Given the description of an element on the screen output the (x, y) to click on. 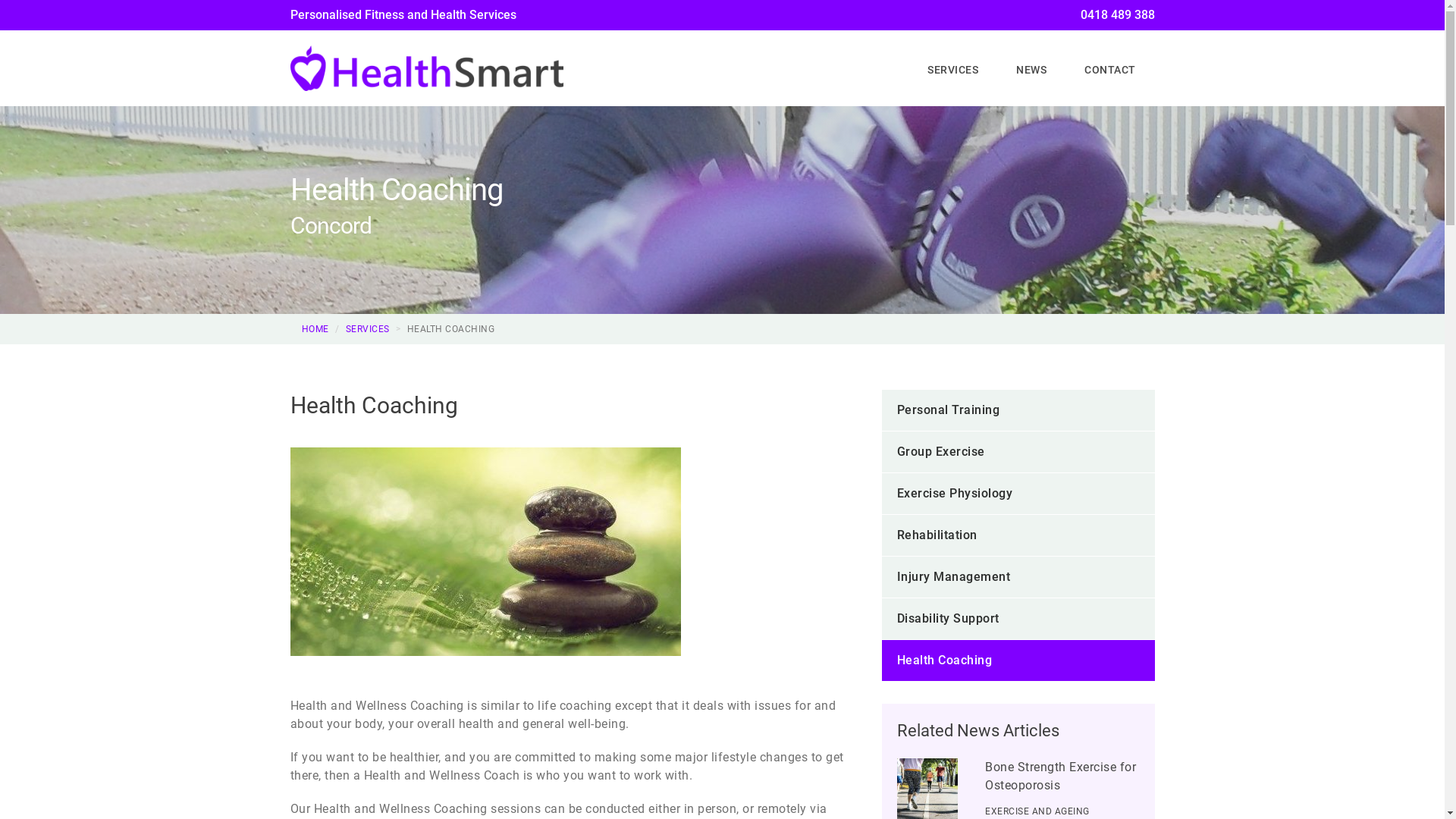
Disability Support Element type: text (1017, 618)
SERVICES Element type: text (952, 69)
Group Exercise Element type: text (1017, 451)
EXERCISE AND AGEING Element type: text (1037, 811)
Health Coaching Element type: text (1017, 660)
SERVICES Element type: text (367, 328)
HOME Element type: text (315, 328)
Rehabilitation Element type: text (1017, 534)
Personal Training Element type: text (1017, 409)
Home Element type: hover (889, 64)
Health Coaching Element type: text (573, 382)
CONTACT Element type: text (1109, 69)
Injury Management Element type: text (1017, 576)
Bone Strength Exercise for Osteoporosis Element type: text (1060, 775)
NEWS Element type: text (1031, 69)
Exercise Physiology Element type: text (1017, 493)
